Given the description of an element on the screen output the (x, y) to click on. 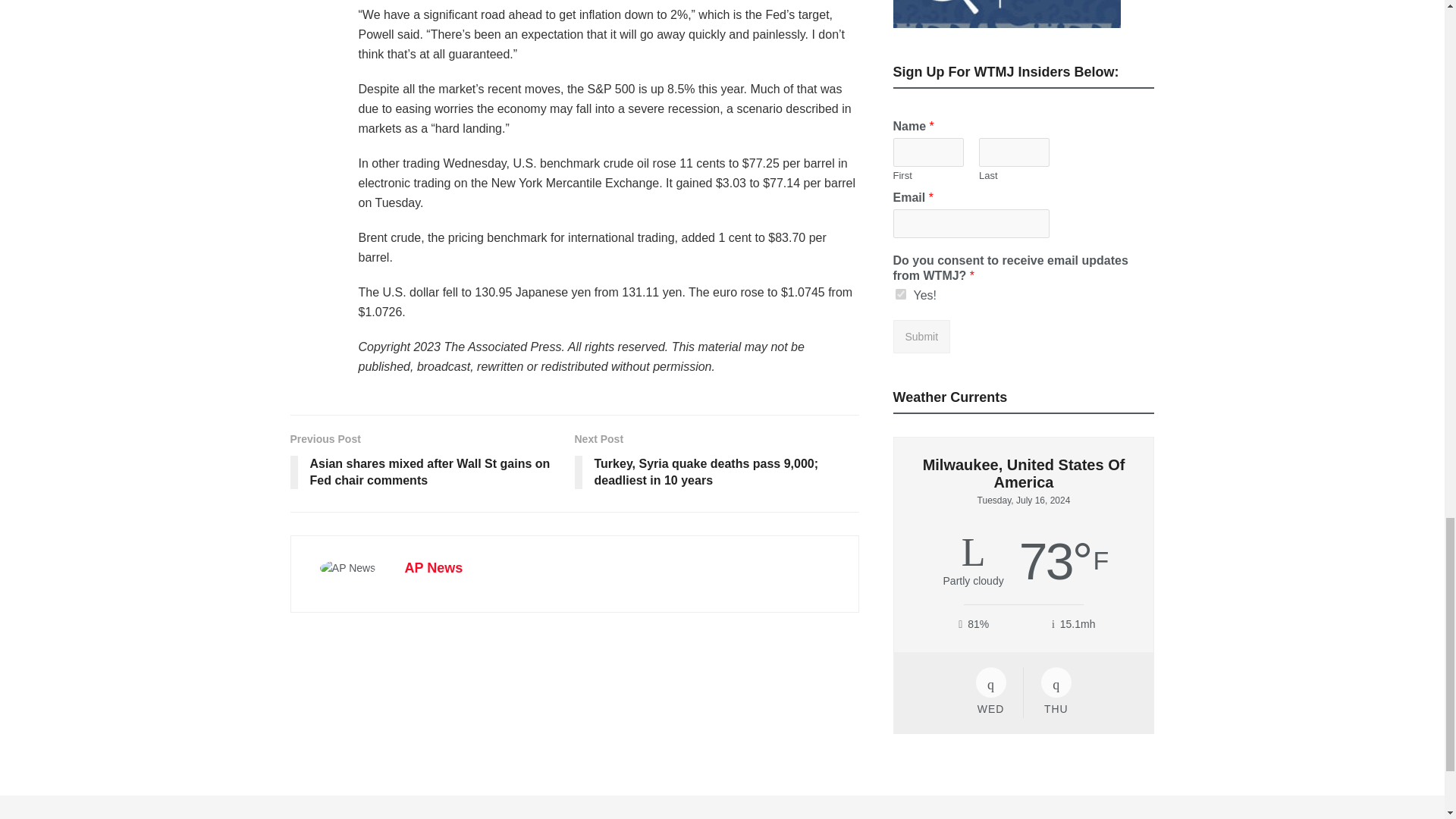
Yes! (900, 294)
